Given the description of an element on the screen output the (x, y) to click on. 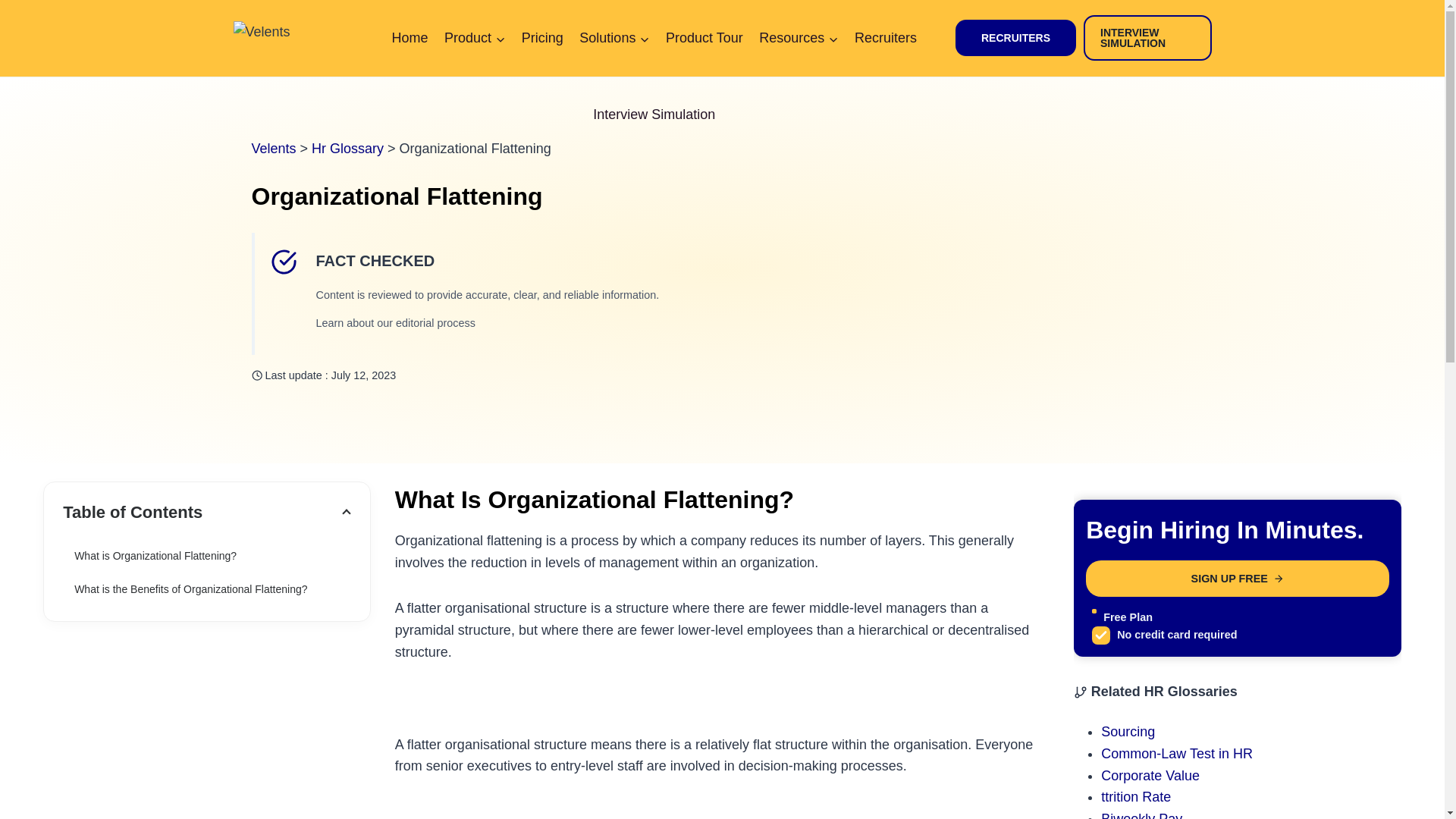
Velents (274, 148)
RECRUITERS (1015, 37)
Go to Velents. (274, 148)
INTERVIEW SIMULATION (1147, 37)
Recruiters (884, 38)
Solutions (615, 38)
What is Organizational Flattening? (206, 555)
Product Tour (704, 38)
Product (474, 38)
Sourcing (1127, 731)
